Given the description of an element on the screen output the (x, y) to click on. 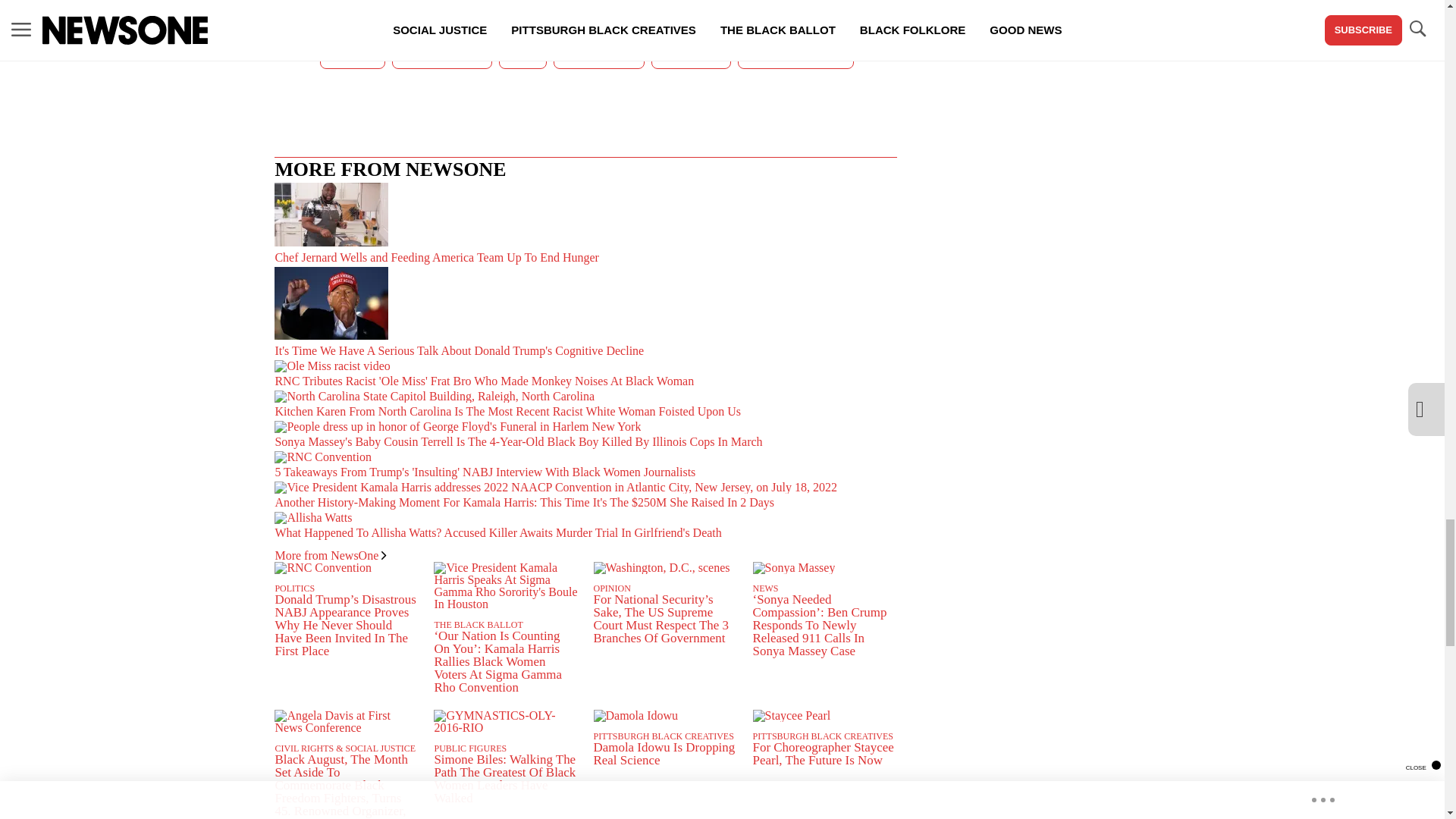
Chef Jernard Wells and Feeding America Team Up To End Hunger (585, 224)
TERRI HILL VIDEO (795, 54)
TERRI HILL (690, 54)
ARTICLE (352, 54)
NEWS (523, 54)
NEWSLETTER (599, 54)
DR. TERRI HILL (441, 54)
